Given the description of an element on the screen output the (x, y) to click on. 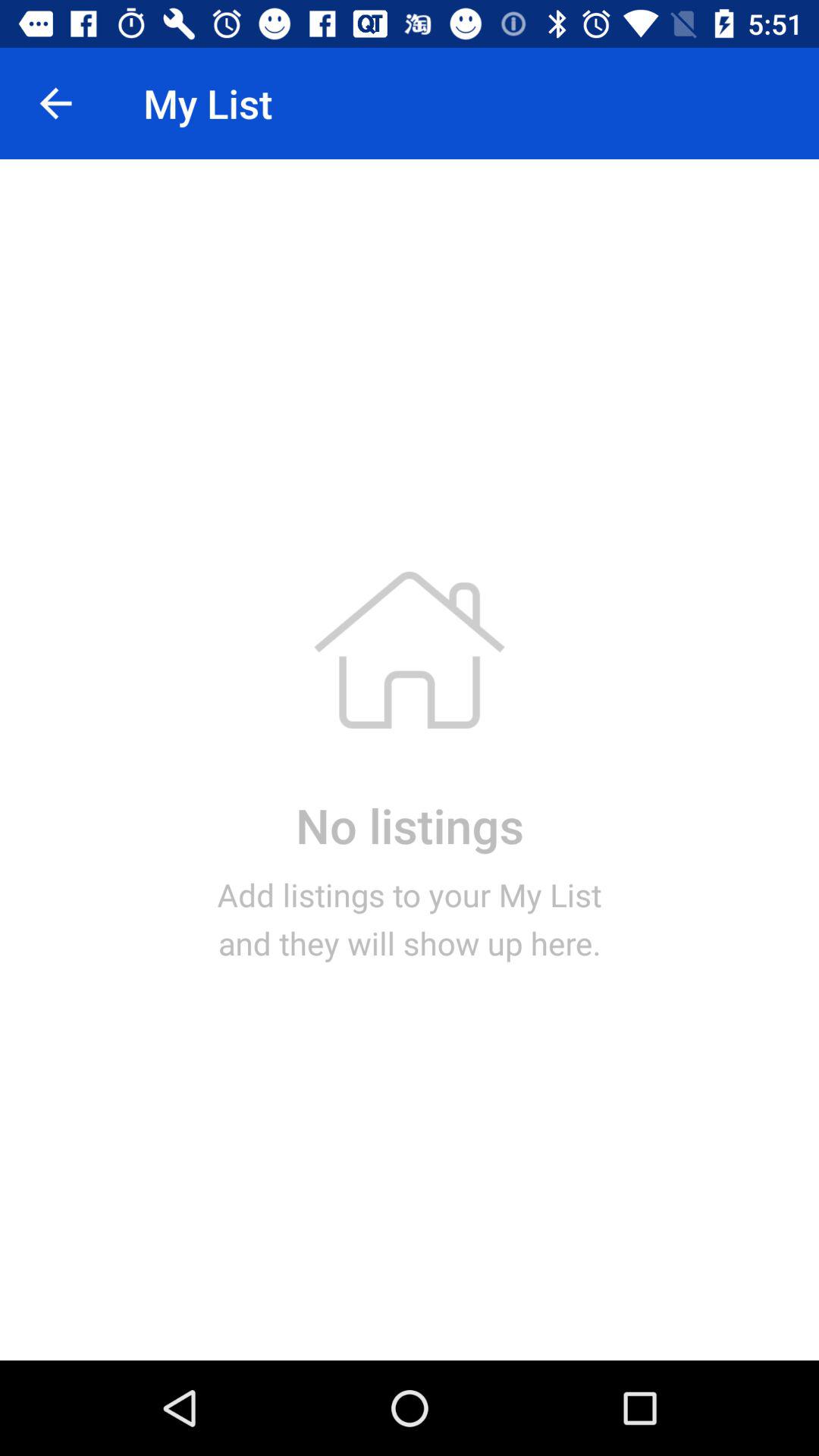
press app to the left of the my list icon (55, 103)
